Given the description of an element on the screen output the (x, y) to click on. 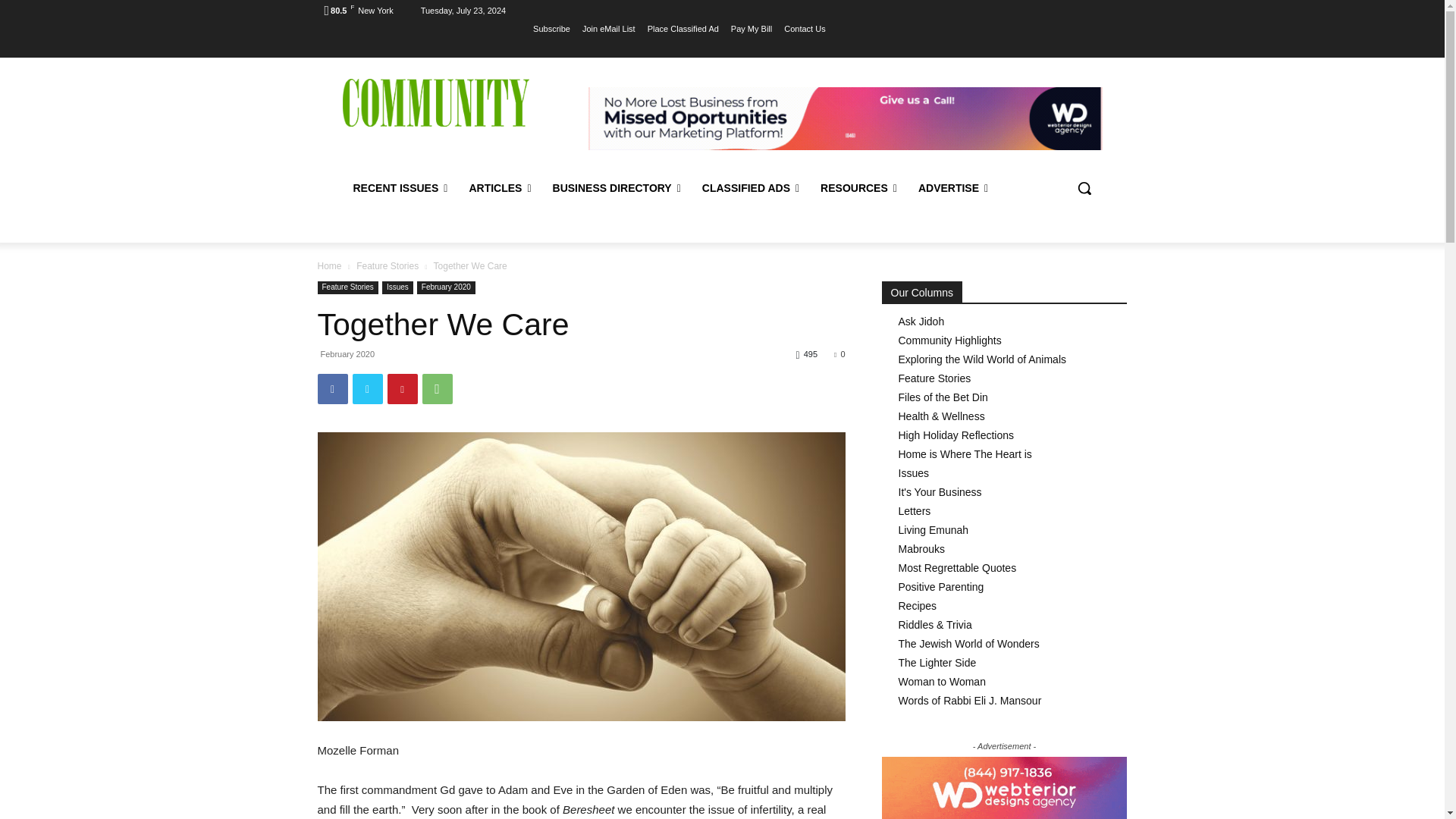
Twitter (366, 388)
WhatsApp (436, 388)
Facebook (332, 388)
Pinterest (401, 388)
View all posts in Feature Stories (387, 266)
